Given the description of an element on the screen output the (x, y) to click on. 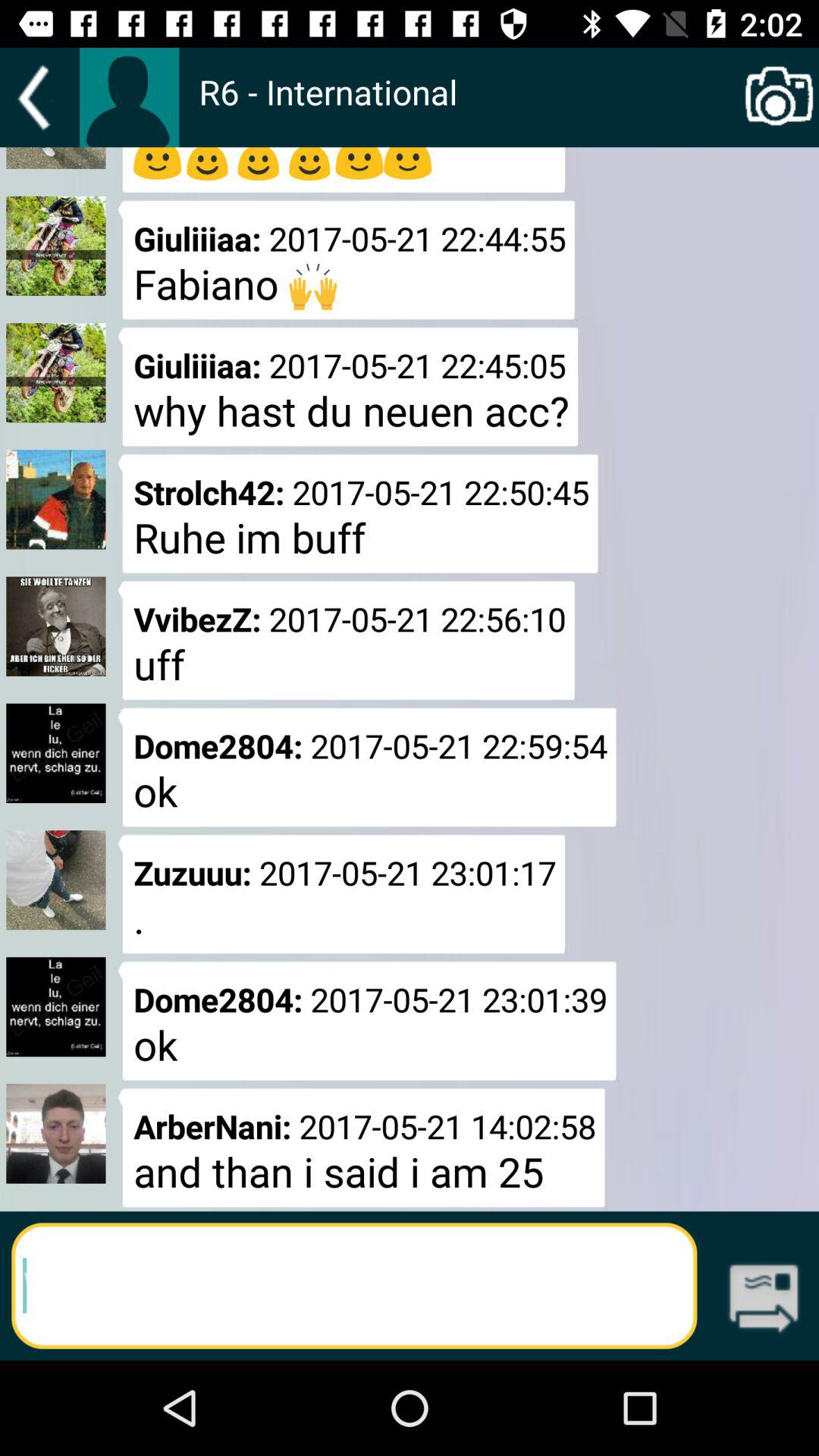
go back (39, 97)
